Given the description of an element on the screen output the (x, y) to click on. 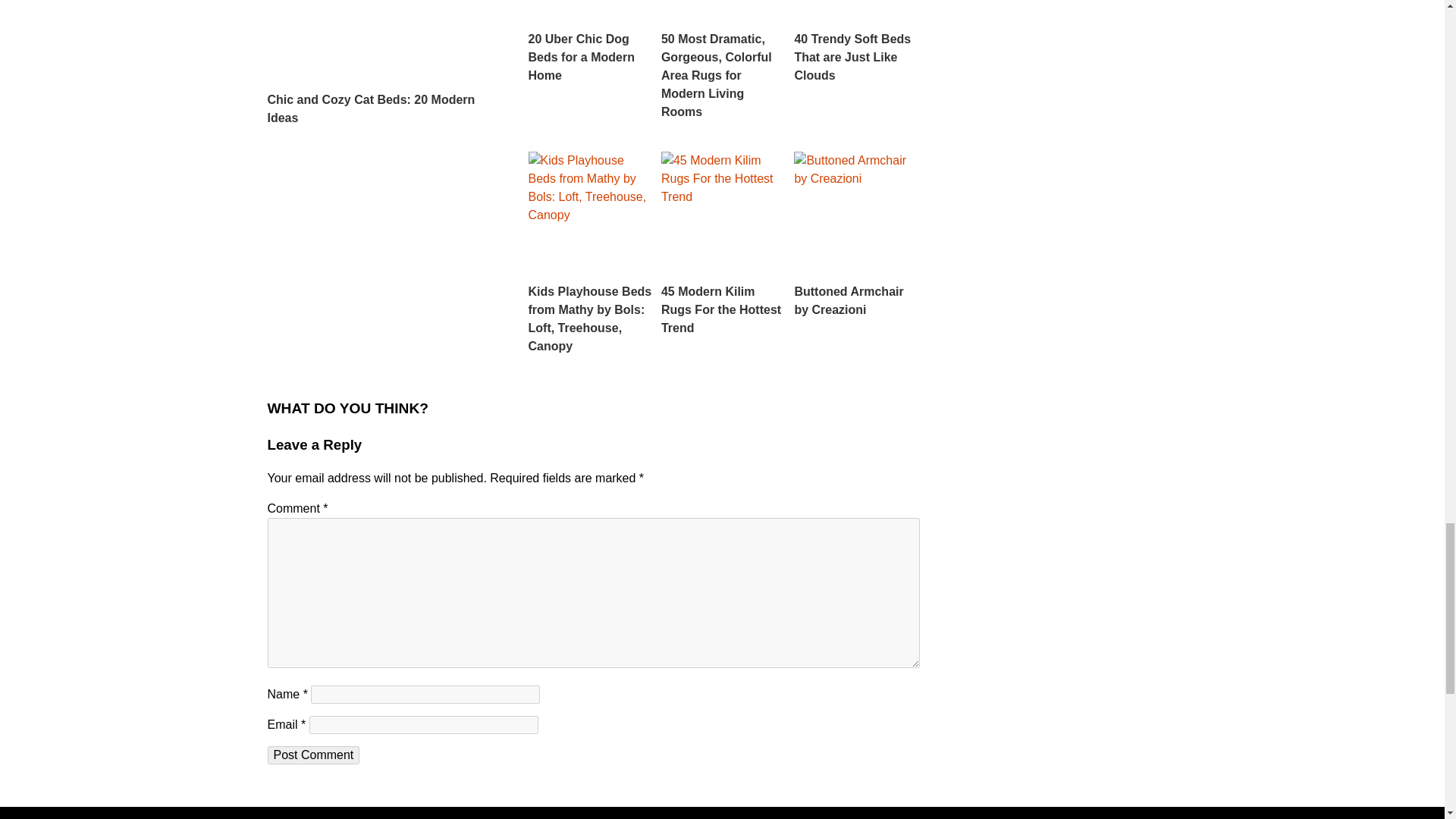
20 Uber Chic Dog Beds for a Modern Home (589, 42)
Post Comment (312, 755)
40 Trendy Soft Beds That are Just Like Clouds (855, 42)
Chic and Cozy Cat Beds: 20 Modern Ideas (385, 63)
20 Uber Chic Dog Beds for a Modern Home (589, 42)
40 Trendy Soft Beds That are Just Like Clouds (855, 42)
Chic and Cozy Cat Beds: 20 Modern Ideas (385, 63)
Post Comment (312, 755)
